Given the description of an element on the screen output the (x, y) to click on. 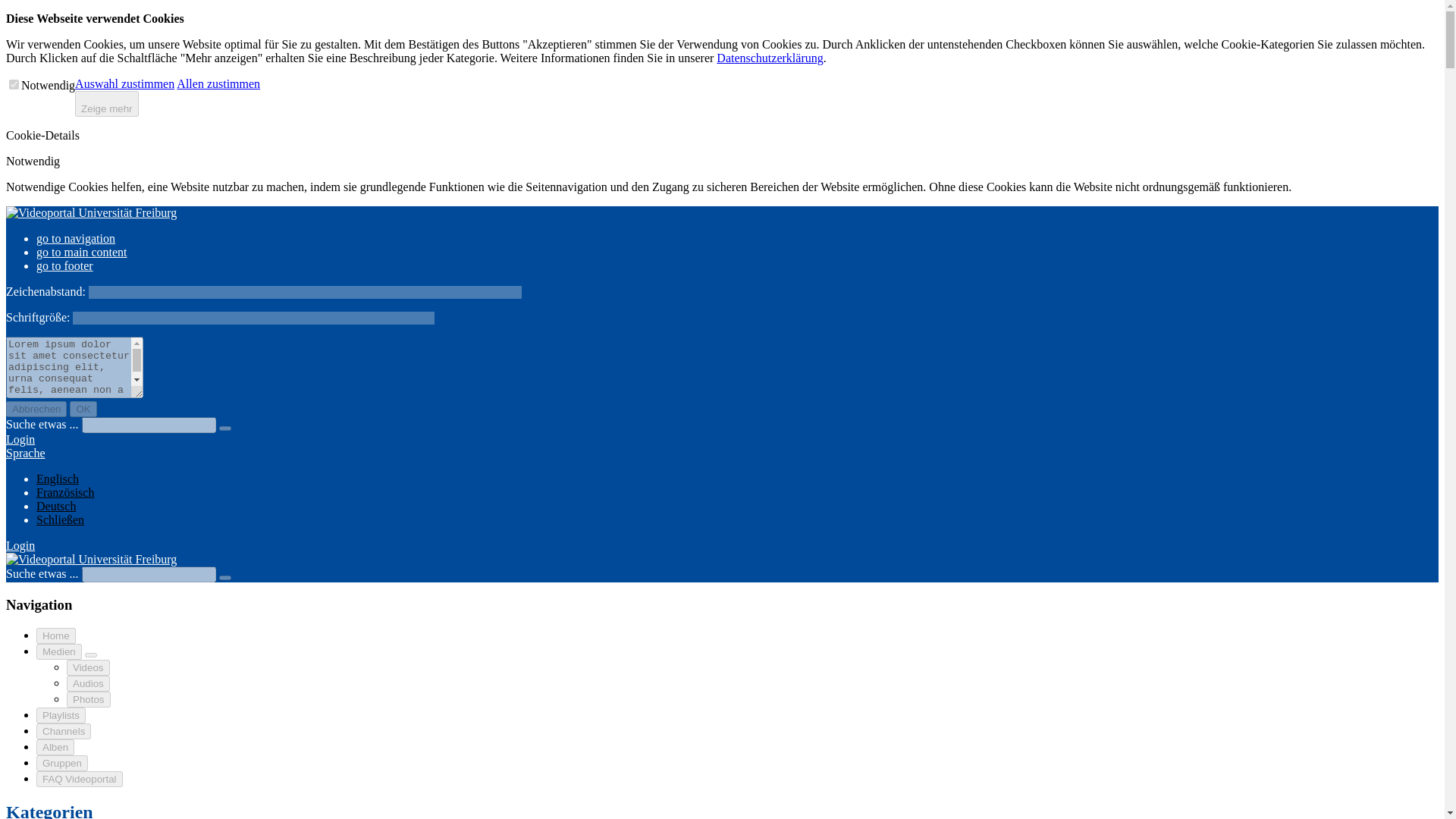
OK (82, 408)
go to main content (82, 251)
go to navigation (75, 237)
Videos (88, 667)
Medien (58, 651)
on (13, 84)
FAQ Videoportal (79, 779)
Playlists (60, 715)
Deutsch (55, 505)
Allen zustimmen (218, 83)
go to footer (64, 265)
Alben (55, 747)
Audios (88, 683)
Zeige mehr (106, 103)
Sprache (25, 452)
